Given the description of an element on the screen output the (x, y) to click on. 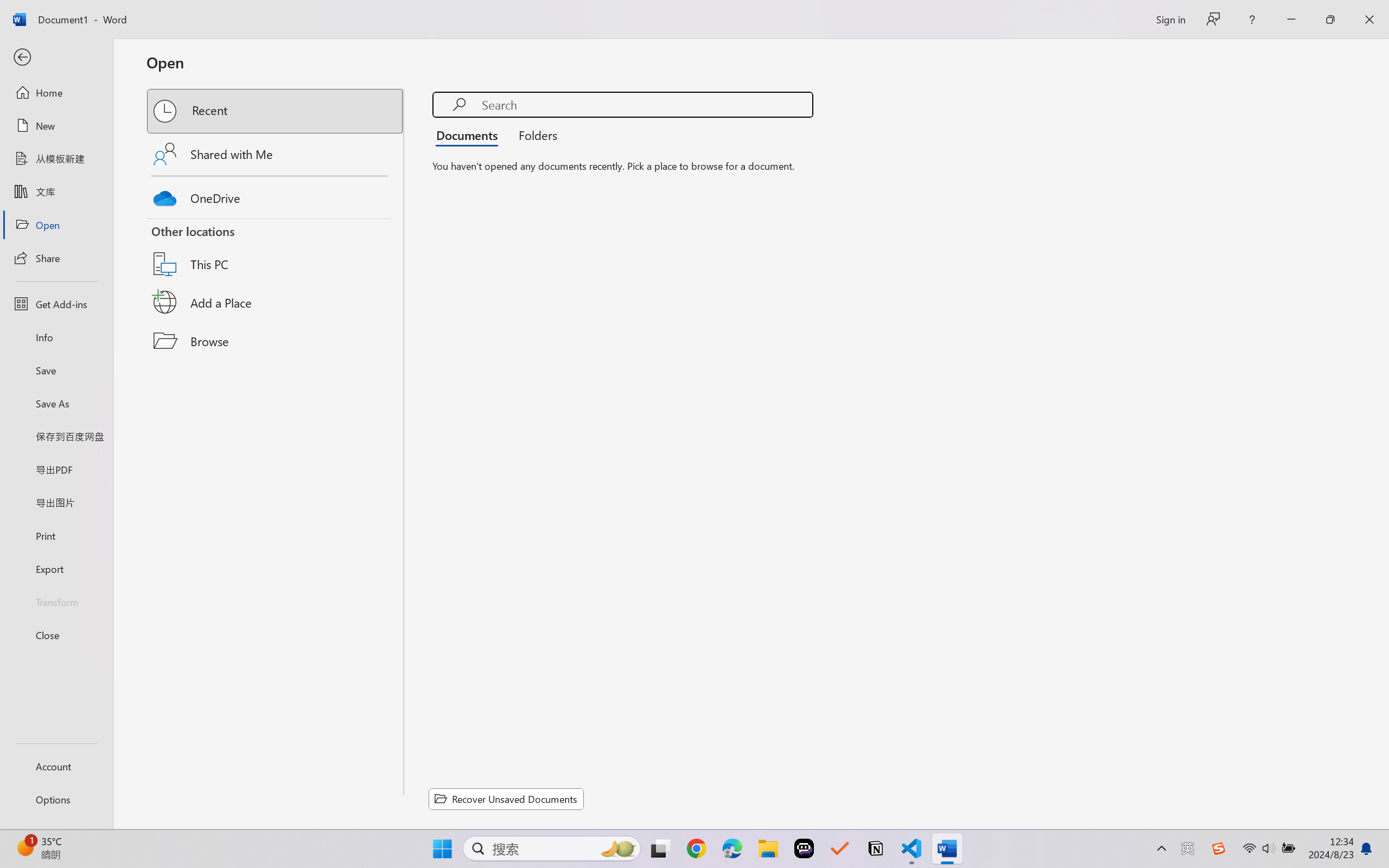
Add a Place (275, 302)
Account (56, 765)
Get Add-ins (56, 303)
Options (56, 798)
This PC (275, 249)
Save As (56, 403)
